Given the description of an element on the screen output the (x, y) to click on. 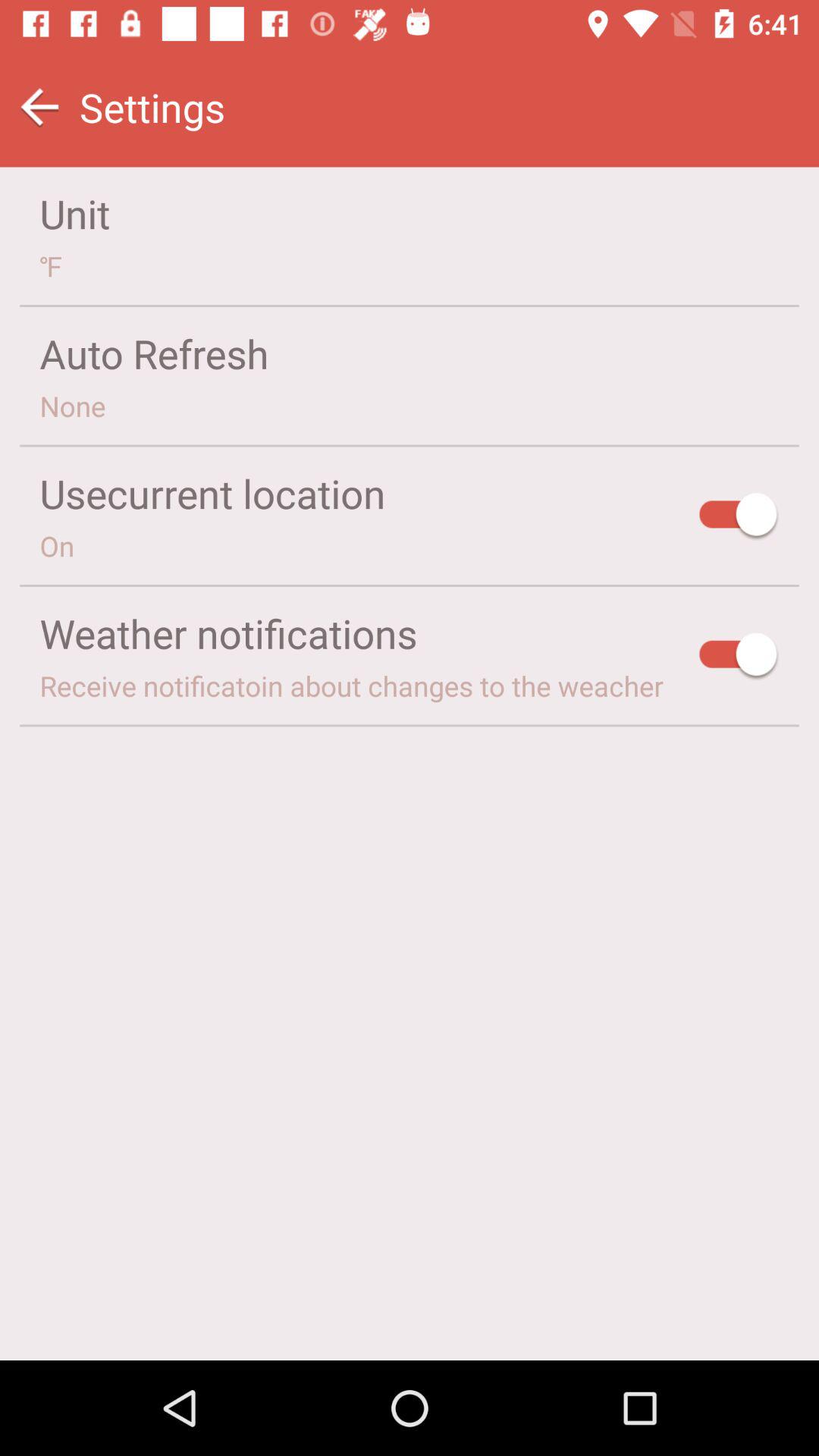
press item to the left of the settings item (39, 107)
